Given the description of an element on the screen output the (x, y) to click on. 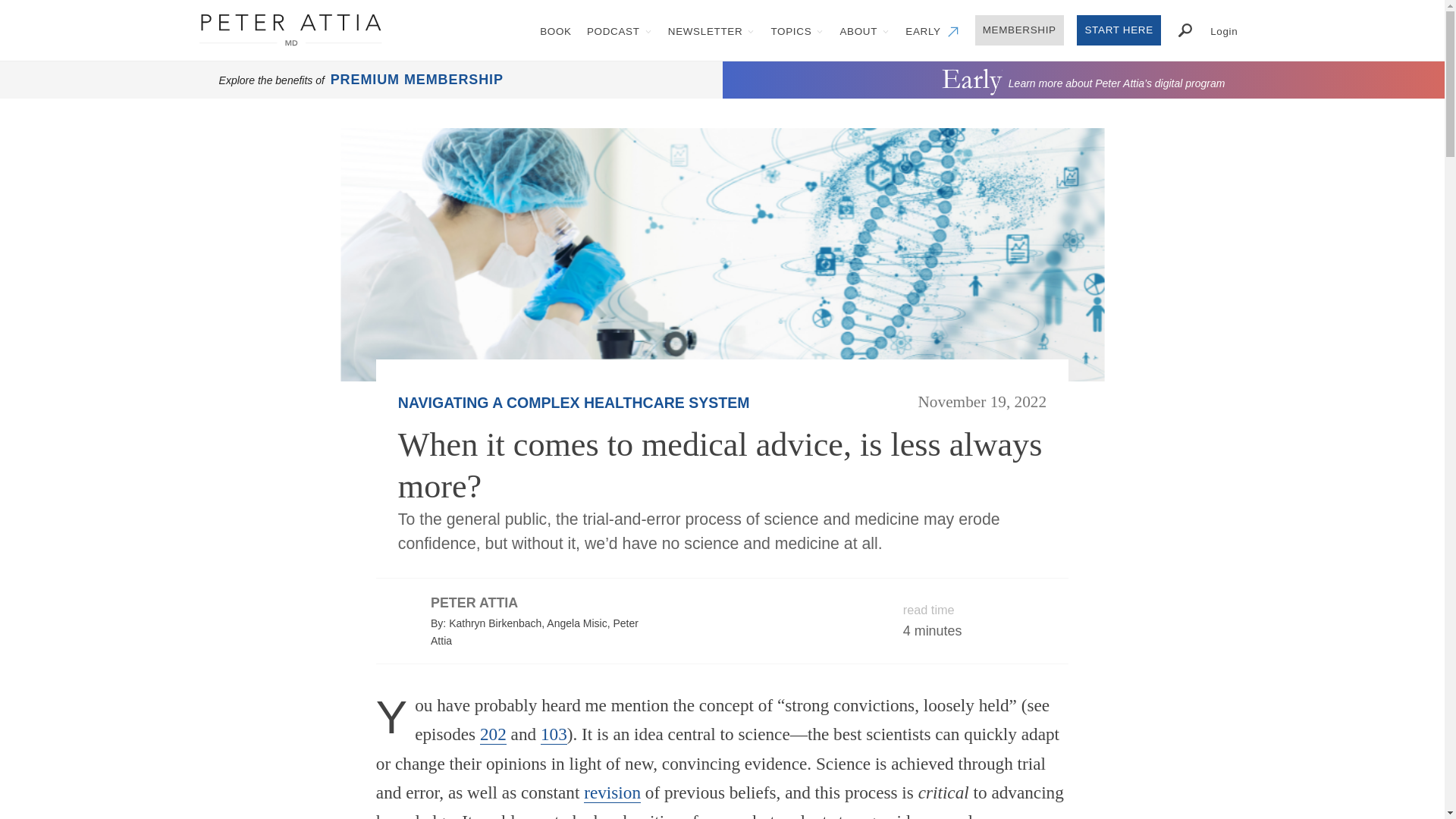
Explore the benefits of  PREMIUM MEMBERSHIP (360, 80)
ABOUT (864, 30)
TOPICS (796, 30)
EARLY (933, 30)
202 (493, 733)
PODCAST (620, 30)
Start Here (1118, 30)
Peter Attia (289, 30)
START HERE (1118, 30)
NEWSLETTER (711, 30)
MEMBERSHIP (1019, 30)
revision (611, 792)
NAVIGATING A COMPLEX HEALTHCARE SYSTEM (573, 402)
PETER ATTIA (474, 602)
103 (553, 733)
